Given the description of an element on the screen output the (x, y) to click on. 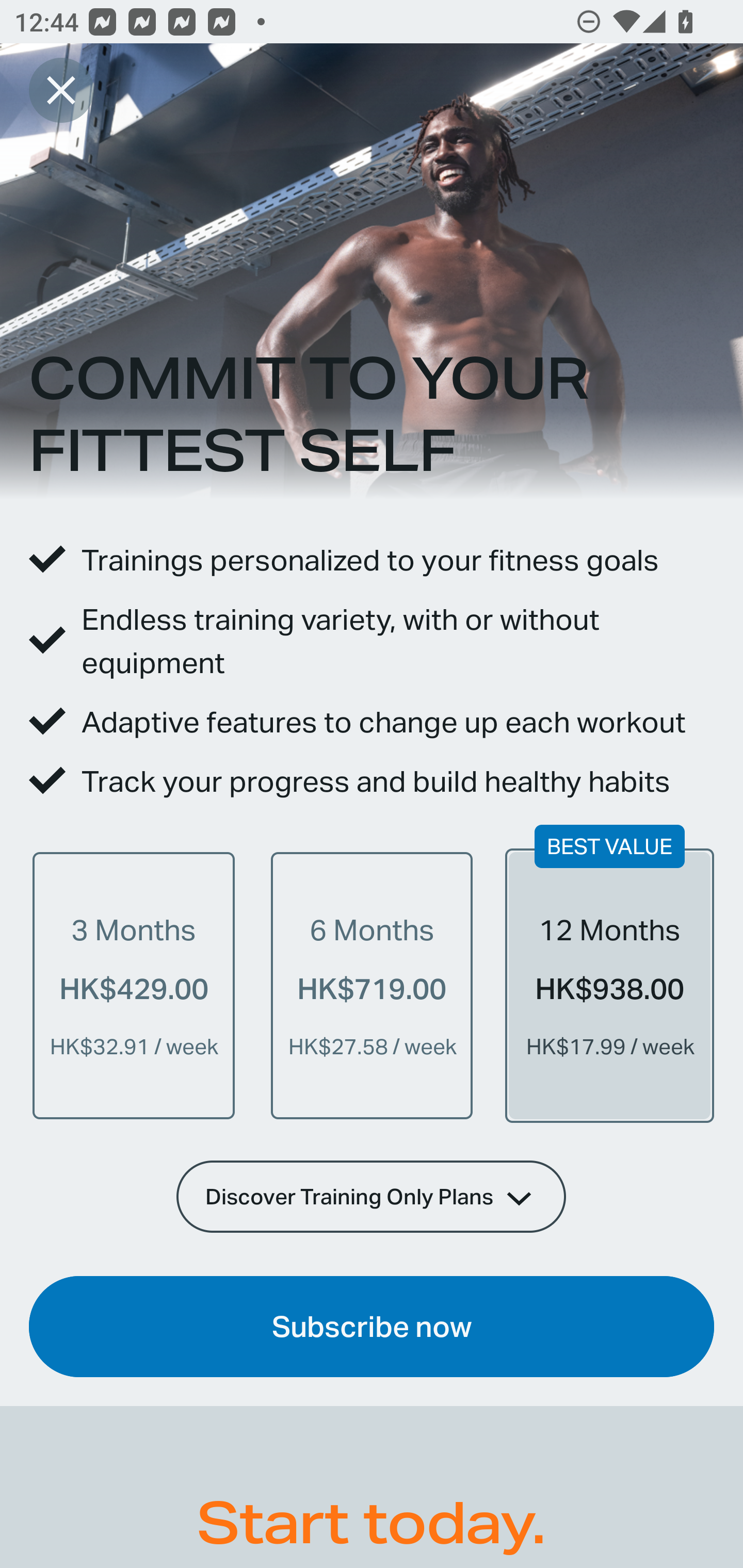
Close (60, 90)
3 Months HK$429.00 HK$32.91 / week (133, 985)
6 Months HK$719.00 HK$27.58 / week (371, 985)
12 Months HK$938.00 HK$17.99 / week (609, 985)
Discover Training Only Plans (371, 1196)
Subscribe now (371, 1326)
